Given the description of an element on the screen output the (x, y) to click on. 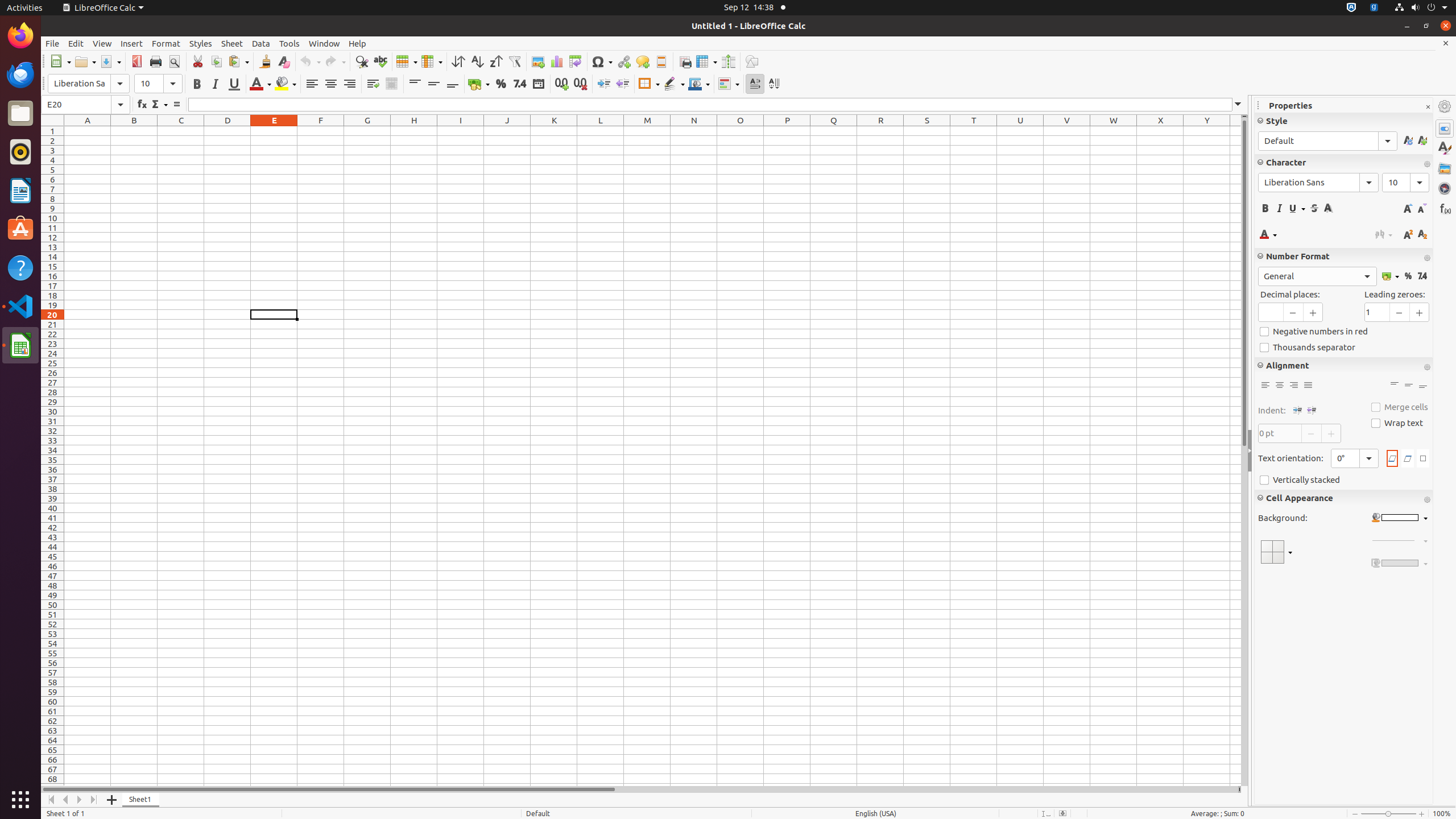
Headers and Footers Element type: push-button (660, 61)
I1 Element type: table-cell (460, 130)
Date Element type: push-button (537, 83)
L1 Element type: table-cell (600, 130)
Name Box Element type: combo-box (85, 104)
